Given the description of an element on the screen output the (x, y) to click on. 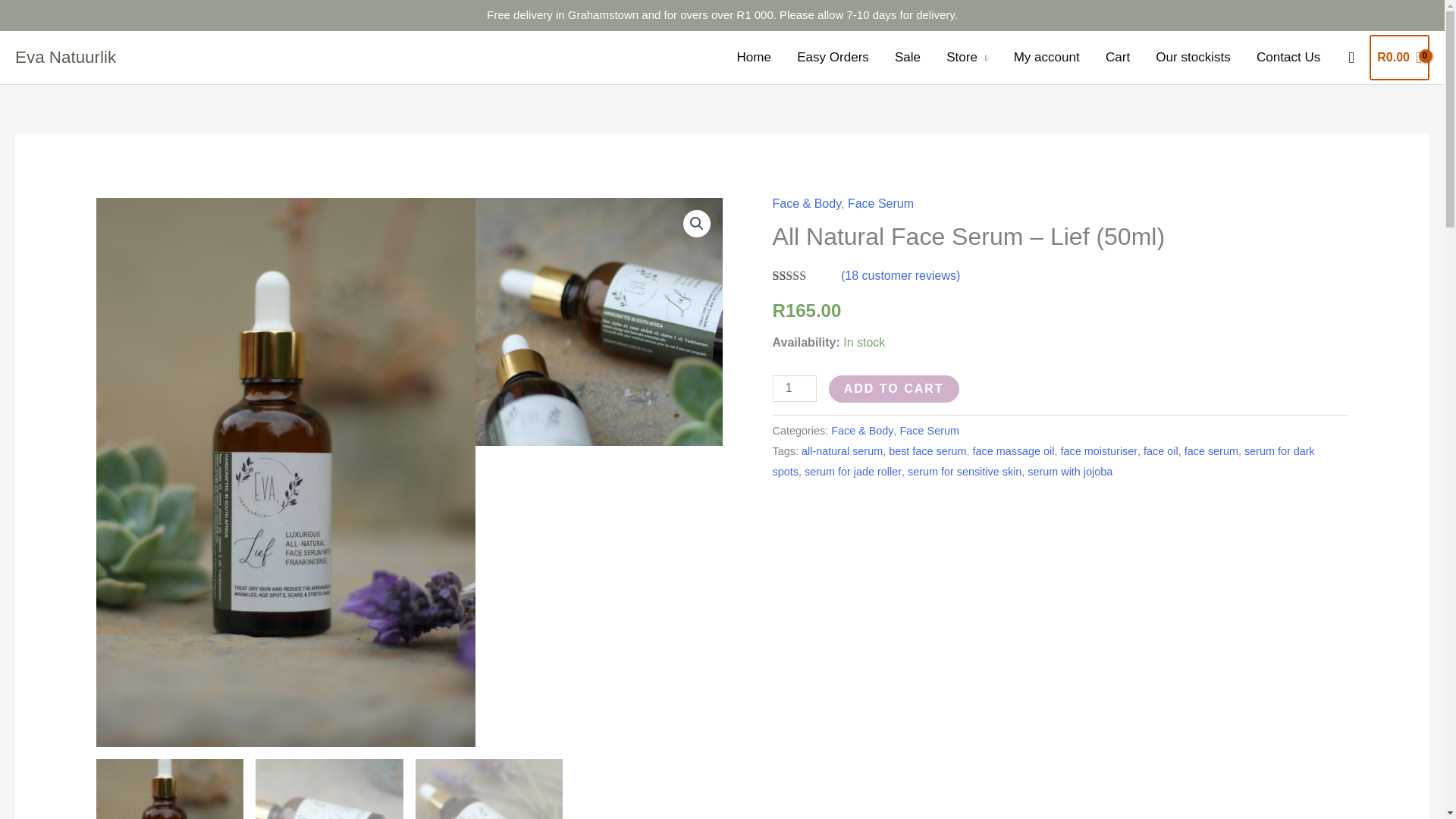
Qty (794, 388)
Store (966, 57)
Easy Orders (833, 57)
Sale (907, 57)
Home (753, 57)
8F2A1830 (665, 321)
1 (794, 388)
Eva Natuurlik (65, 56)
